Given the description of an element on the screen output the (x, y) to click on. 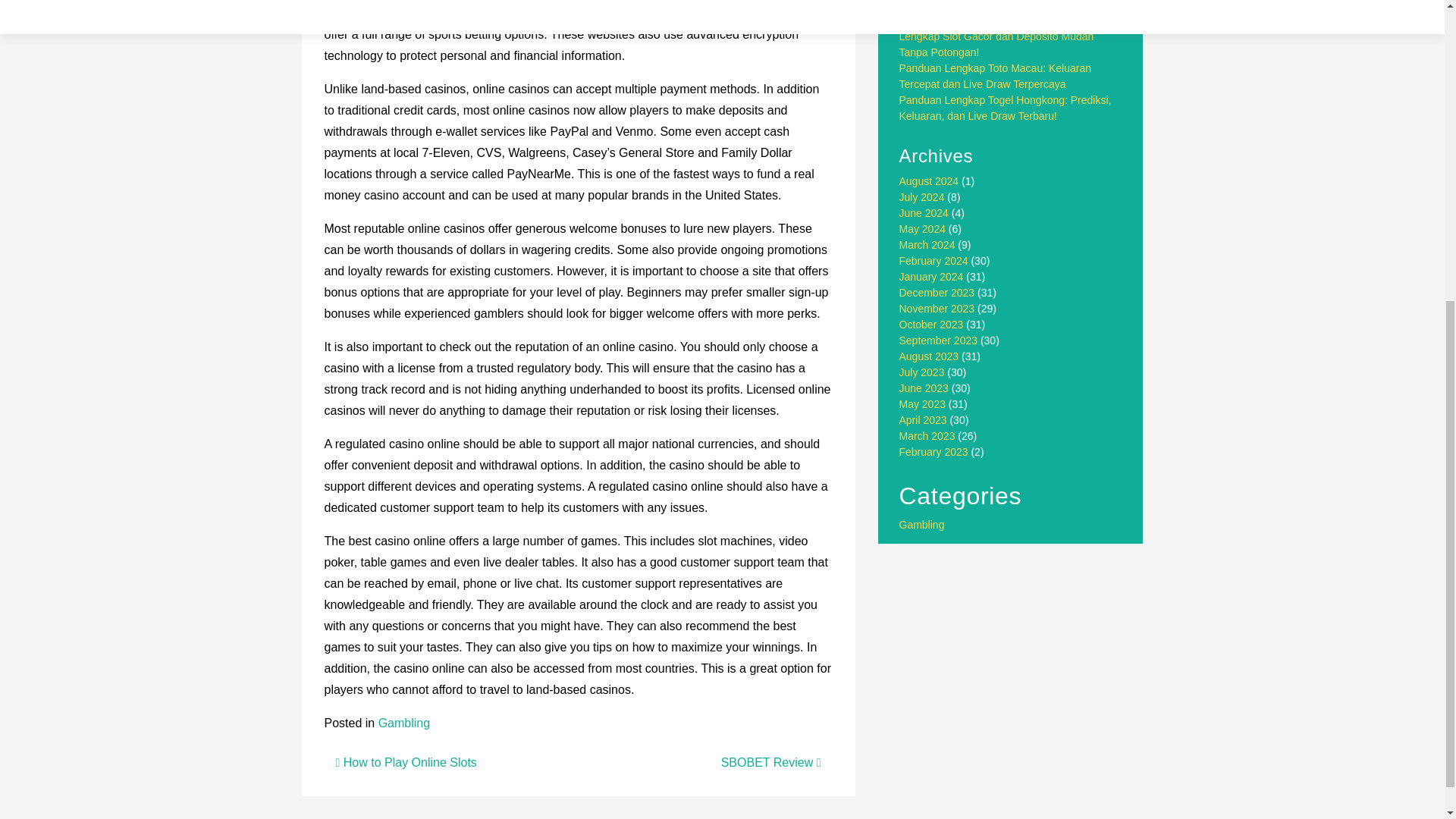
June 2023 (924, 387)
March 2024 (927, 244)
Gambling (403, 722)
February 2023 (933, 451)
 How to Play Online Slots (405, 762)
Gambling (921, 524)
June 2024 (924, 213)
April 2023 (923, 419)
